Given the description of an element on the screen output the (x, y) to click on. 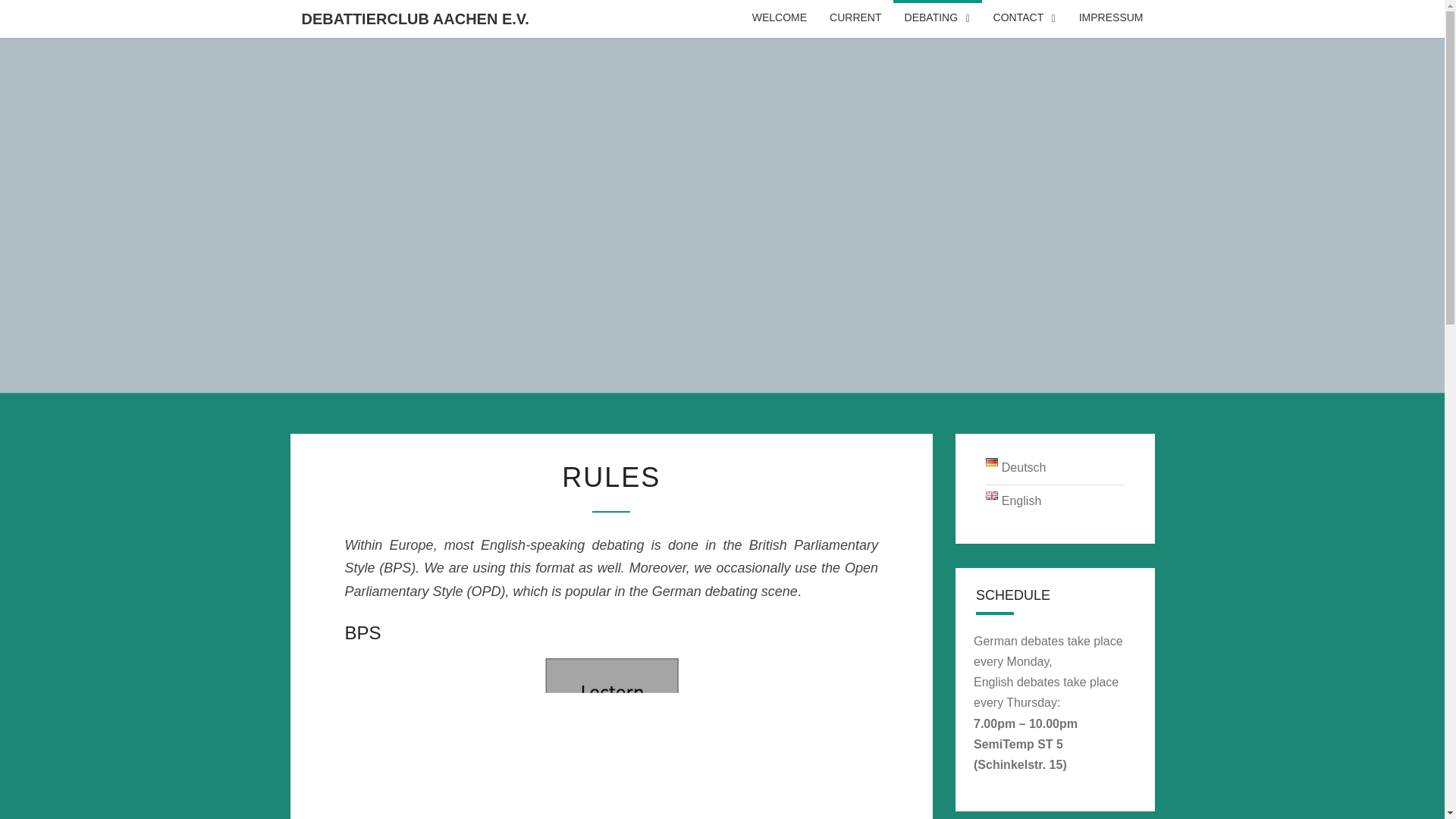
CURRENT (855, 18)
DEBATTIERCLUB AACHEN E.V. (414, 18)
WELCOME (779, 18)
DEBATING (937, 18)
SemiTemp (1005, 744)
Deutsch (1015, 467)
IMPRESSUM (1110, 18)
CONTACT (1024, 18)
English (1013, 500)
